Given the description of an element on the screen output the (x, y) to click on. 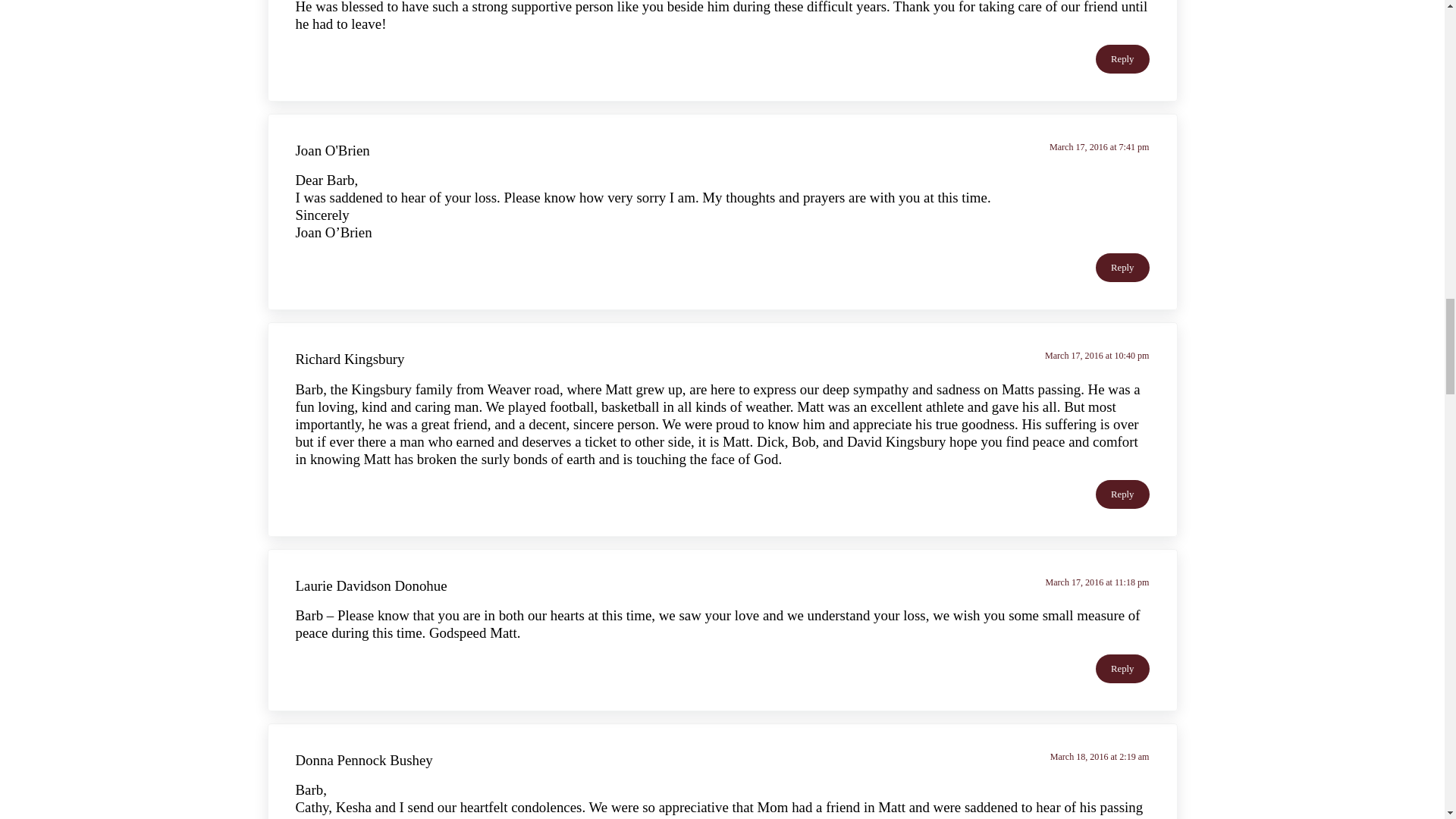
Reply (1123, 267)
Reply (1123, 59)
Reply (1123, 668)
Reply (1123, 493)
March 17, 2016 at 10:40 pm (1097, 355)
March 17, 2016 at 11:18 pm (1096, 582)
March 17, 2016 at 7:41 pm (1099, 146)
